Given the description of an element on the screen output the (x, y) to click on. 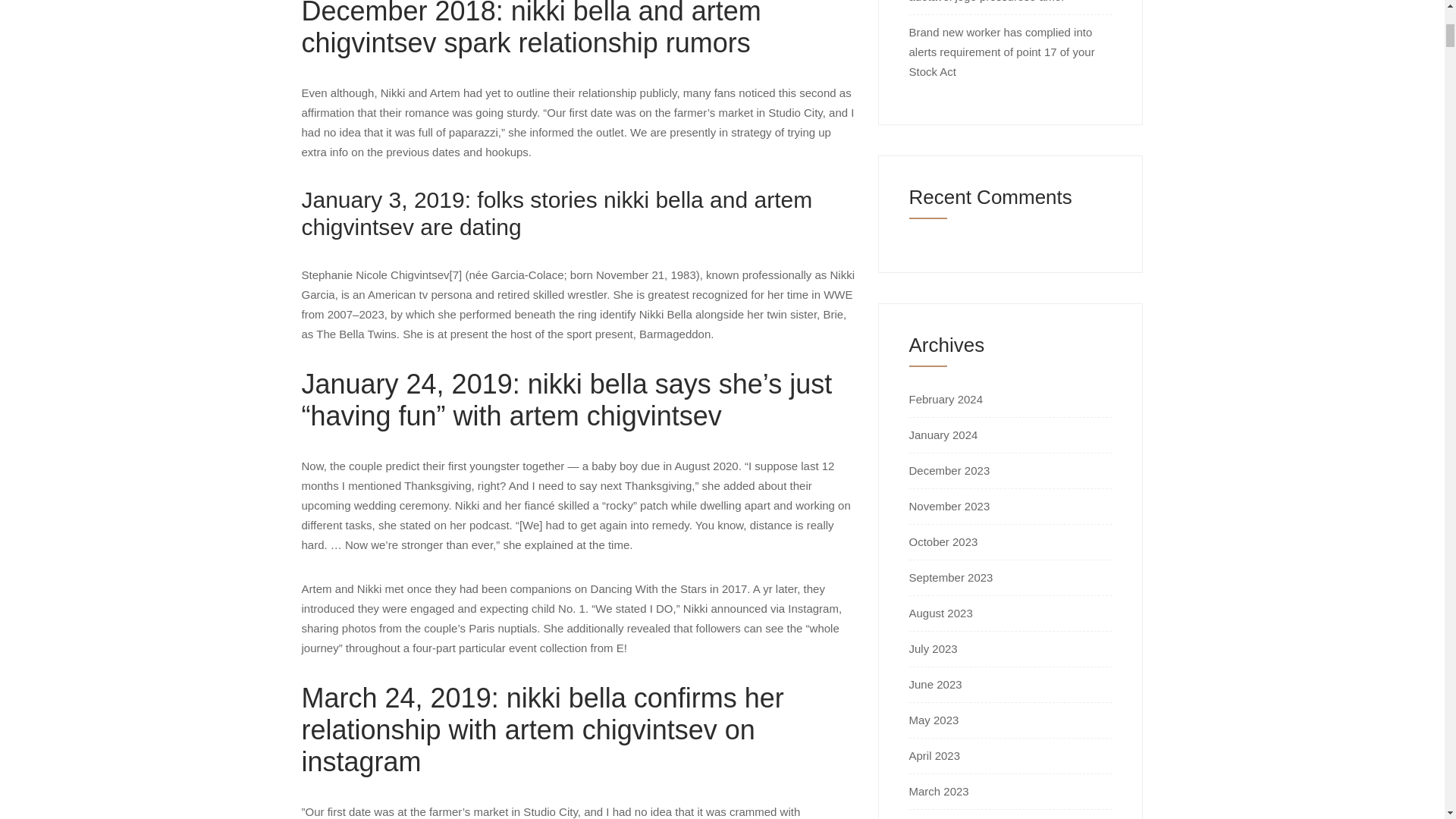
July 2023 (932, 648)
November 2023 (949, 505)
December 2023 (949, 470)
August 2023 (940, 612)
September 2023 (950, 576)
January 2024 (942, 434)
October 2023 (942, 541)
May 2023 (933, 719)
June 2023 (934, 684)
